Given the description of an element on the screen output the (x, y) to click on. 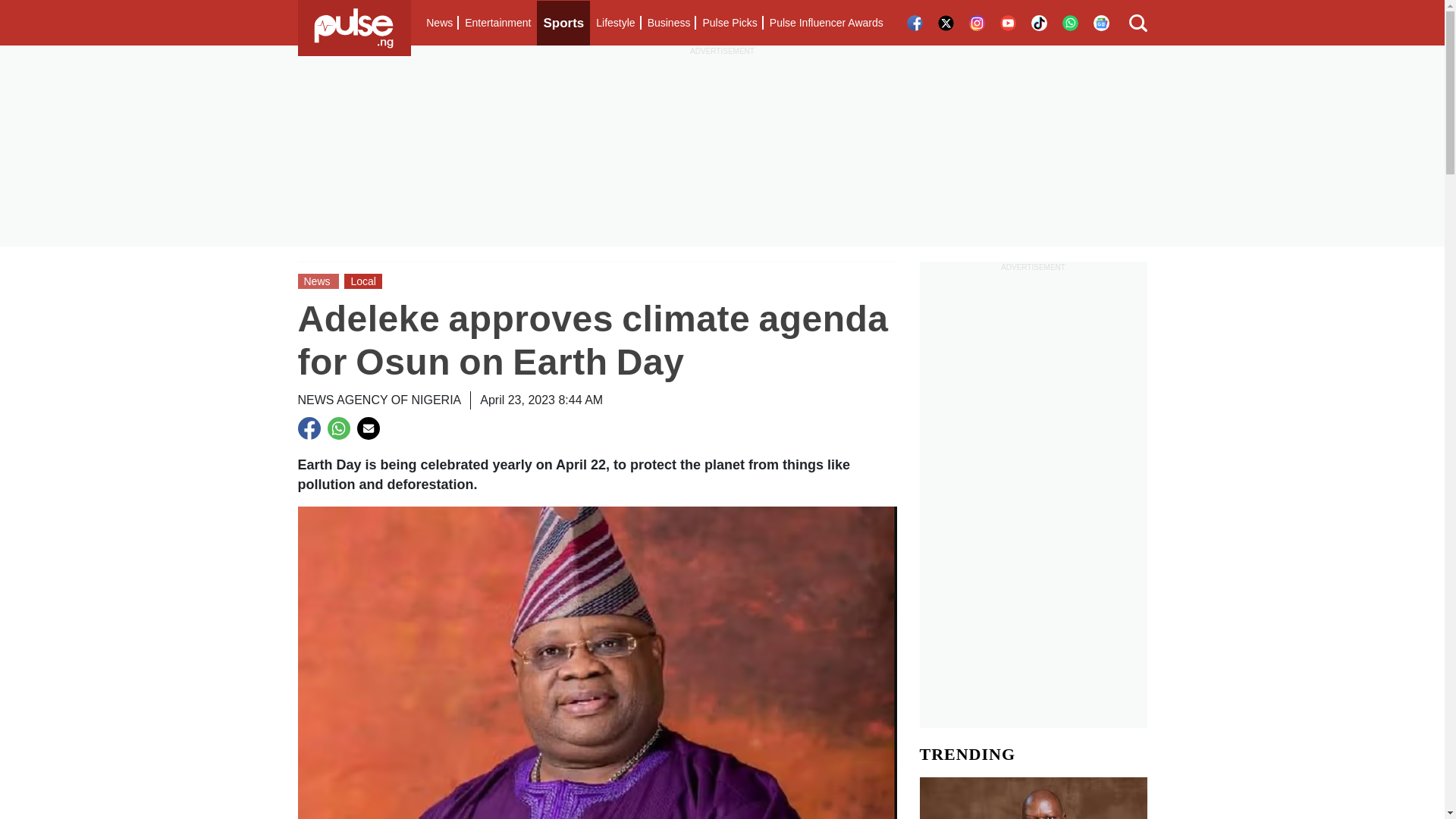
Lifestyle (614, 22)
Business (669, 22)
Sports (563, 22)
Entertainment (497, 22)
